Given the description of an element on the screen output the (x, y) to click on. 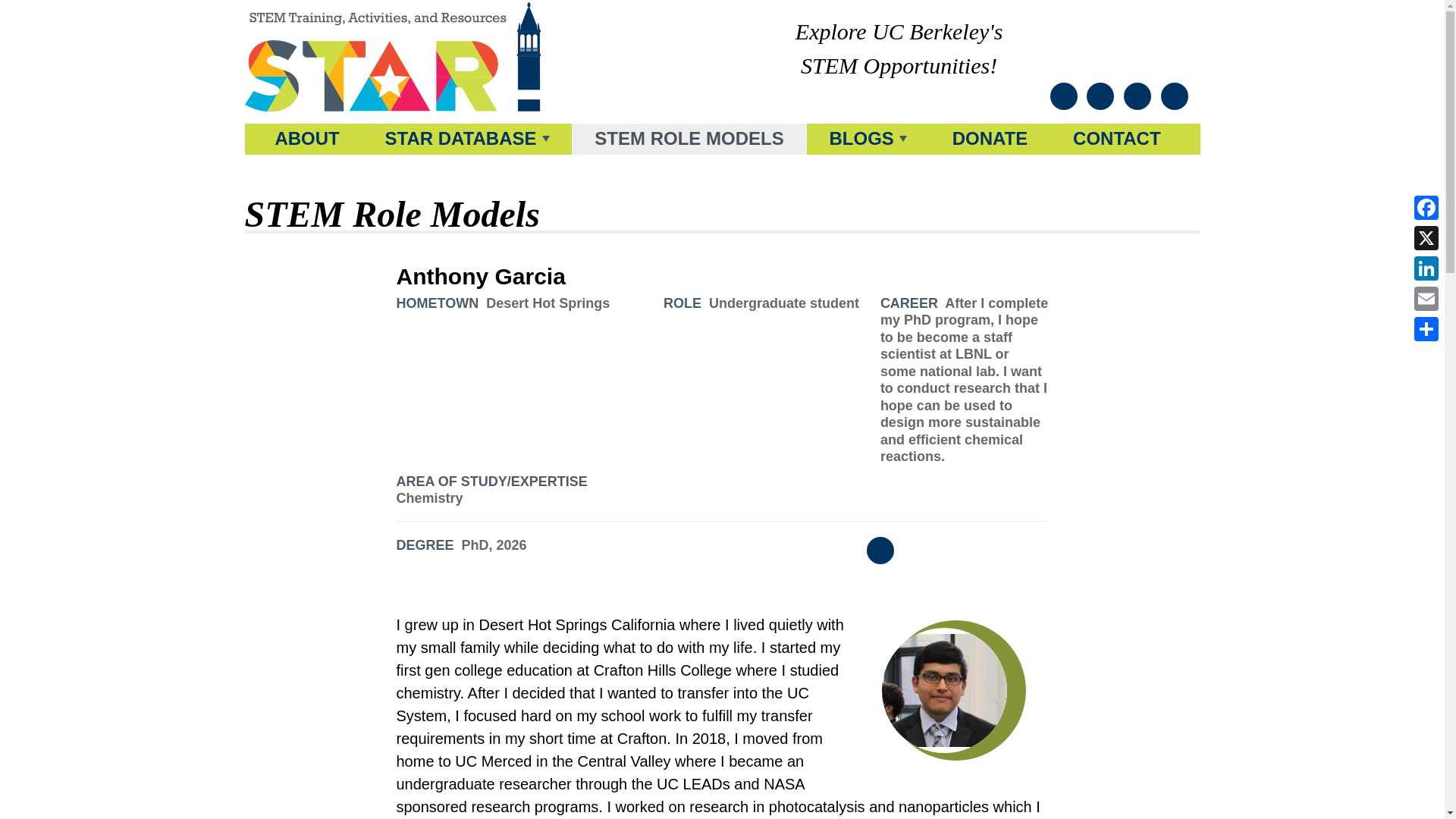
STEM ROLE MODELS (689, 138)
CONTACT (1115, 138)
ABOUT (306, 138)
BLOGS (868, 138)
STAR DATABASE (467, 138)
Follow Anthony Garcia on LinkedIn (881, 550)
DONATE (989, 138)
